Given the description of an element on the screen output the (x, y) to click on. 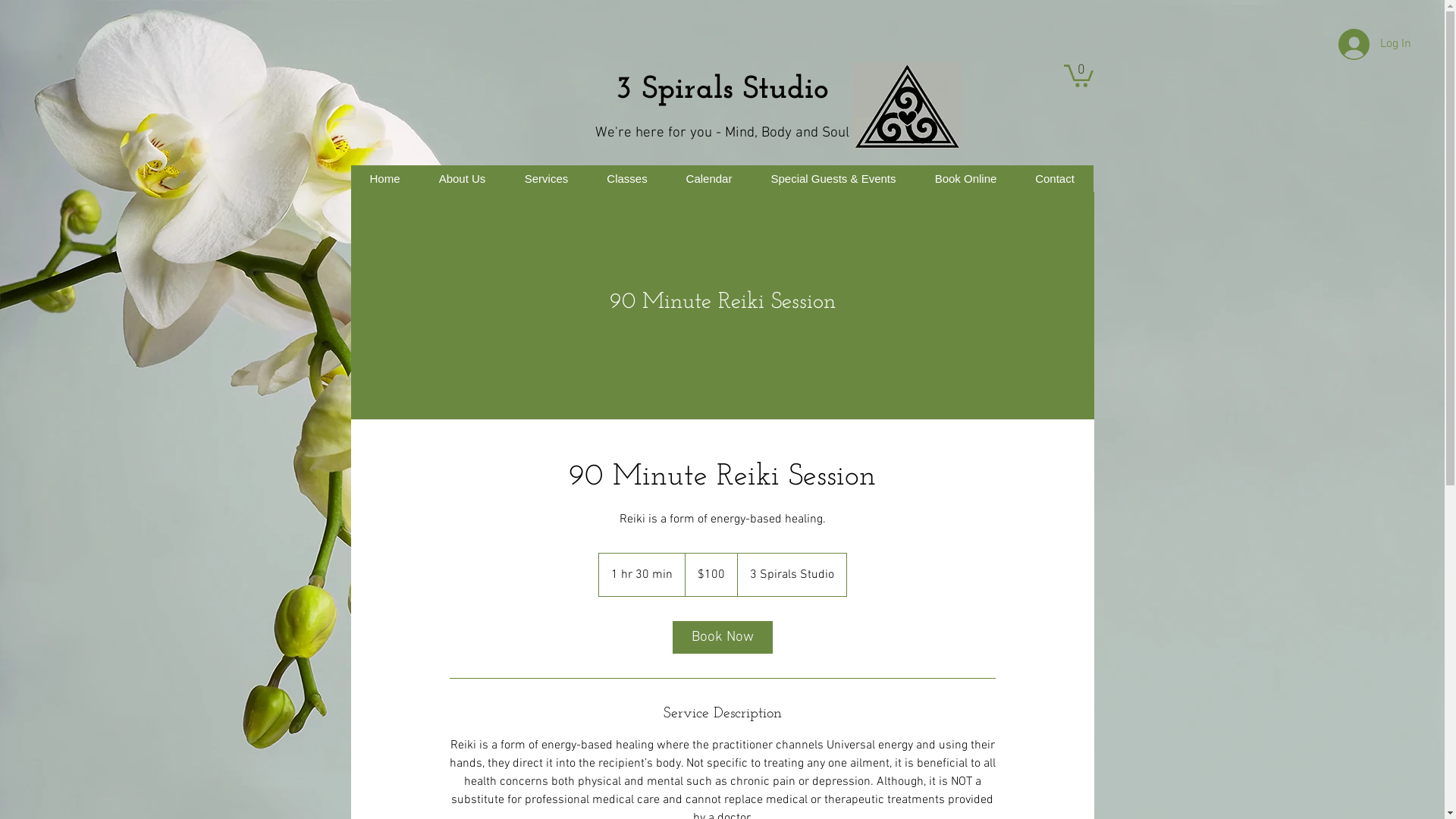
Services Element type: text (546, 178)
Classes Element type: text (625, 178)
Log In Element type: text (1370, 44)
We're here for you - Mind, Body and Soul Element type: text (721, 132)
0 Element type: text (1077, 74)
Contact Element type: text (1054, 178)
Book Online Element type: text (964, 178)
Book Now Element type: text (721, 637)
Calendar Element type: text (707, 178)
About Us Element type: text (461, 178)
Home Element type: text (384, 178)
Special Guests & Events Element type: text (832, 178)
3 Spirals Studio Element type: text (721, 89)
